Given the description of an element on the screen output the (x, y) to click on. 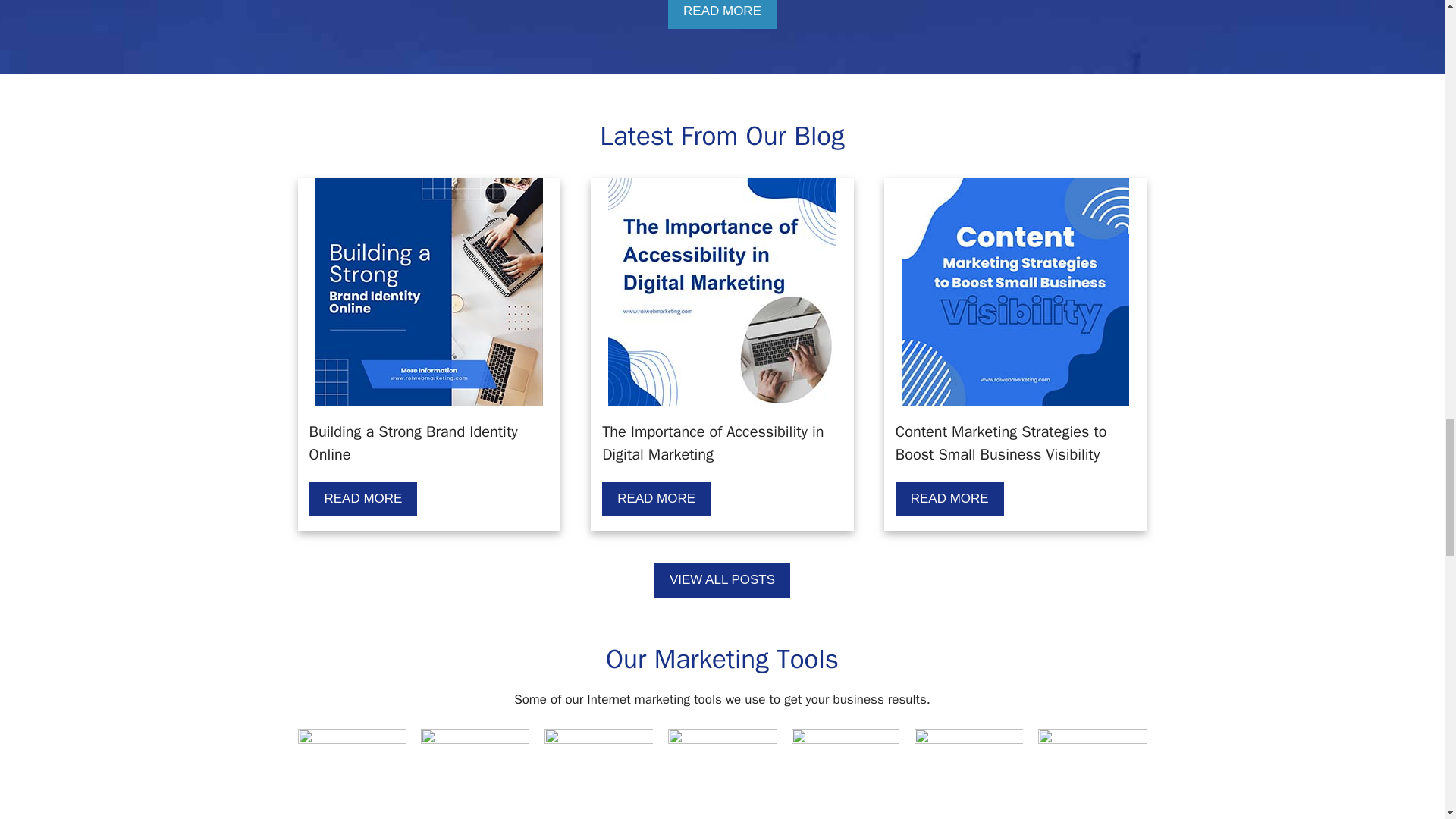
Google Analytics logo (845, 773)
Google Ads logo (351, 773)
Google shop logo (968, 773)
Facebook logo (598, 773)
Youtube logo (1092, 773)
Instagram logo (722, 773)
